Given the description of an element on the screen output the (x, y) to click on. 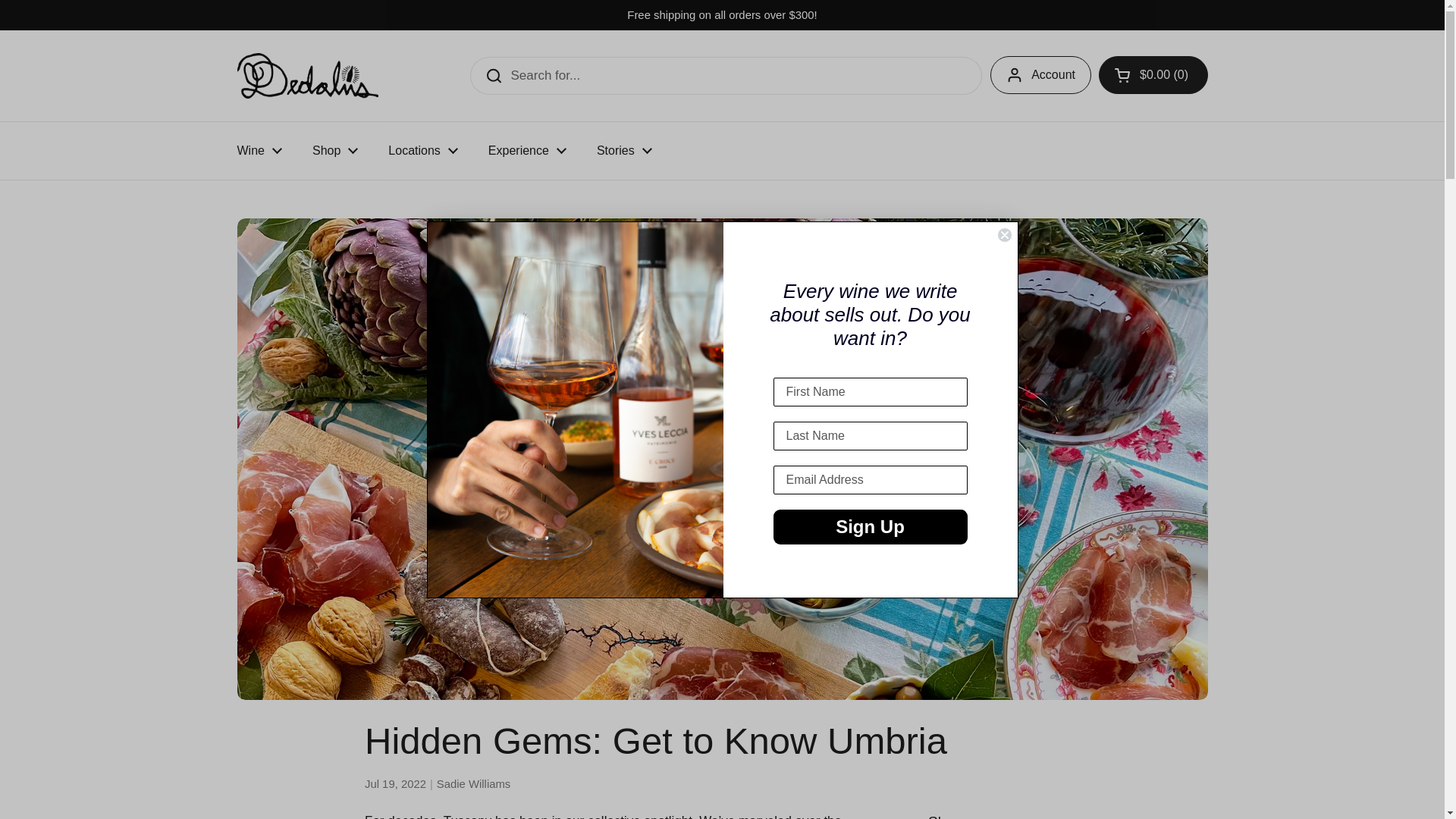
Wine (259, 150)
Open cart (1153, 75)
Close dialog 2 (1003, 234)
Dedalus Wine Shop (306, 75)
Account (1040, 75)
